Given the description of an element on the screen output the (x, y) to click on. 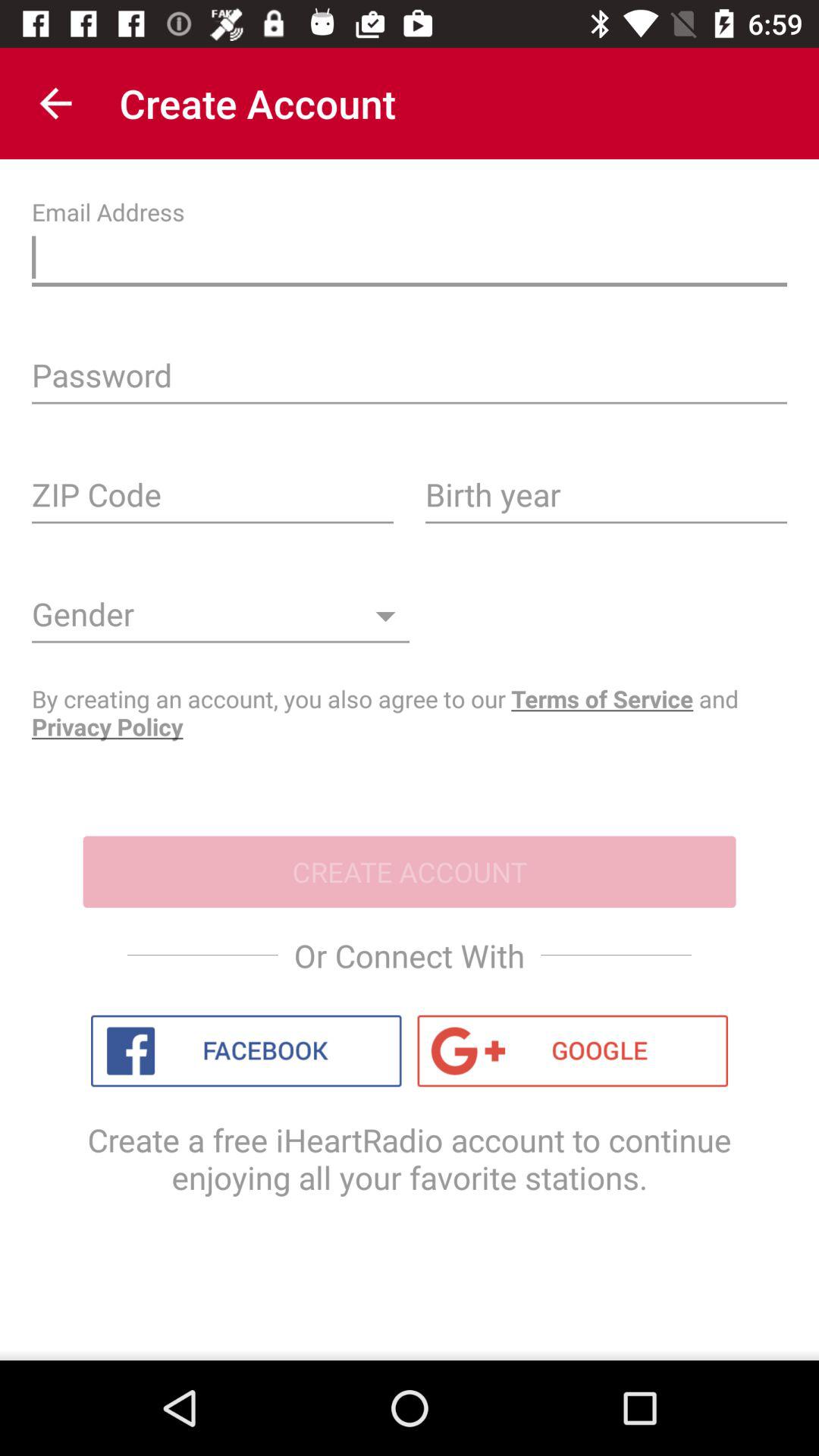
shows google+ option (572, 1050)
